Given the description of an element on the screen output the (x, y) to click on. 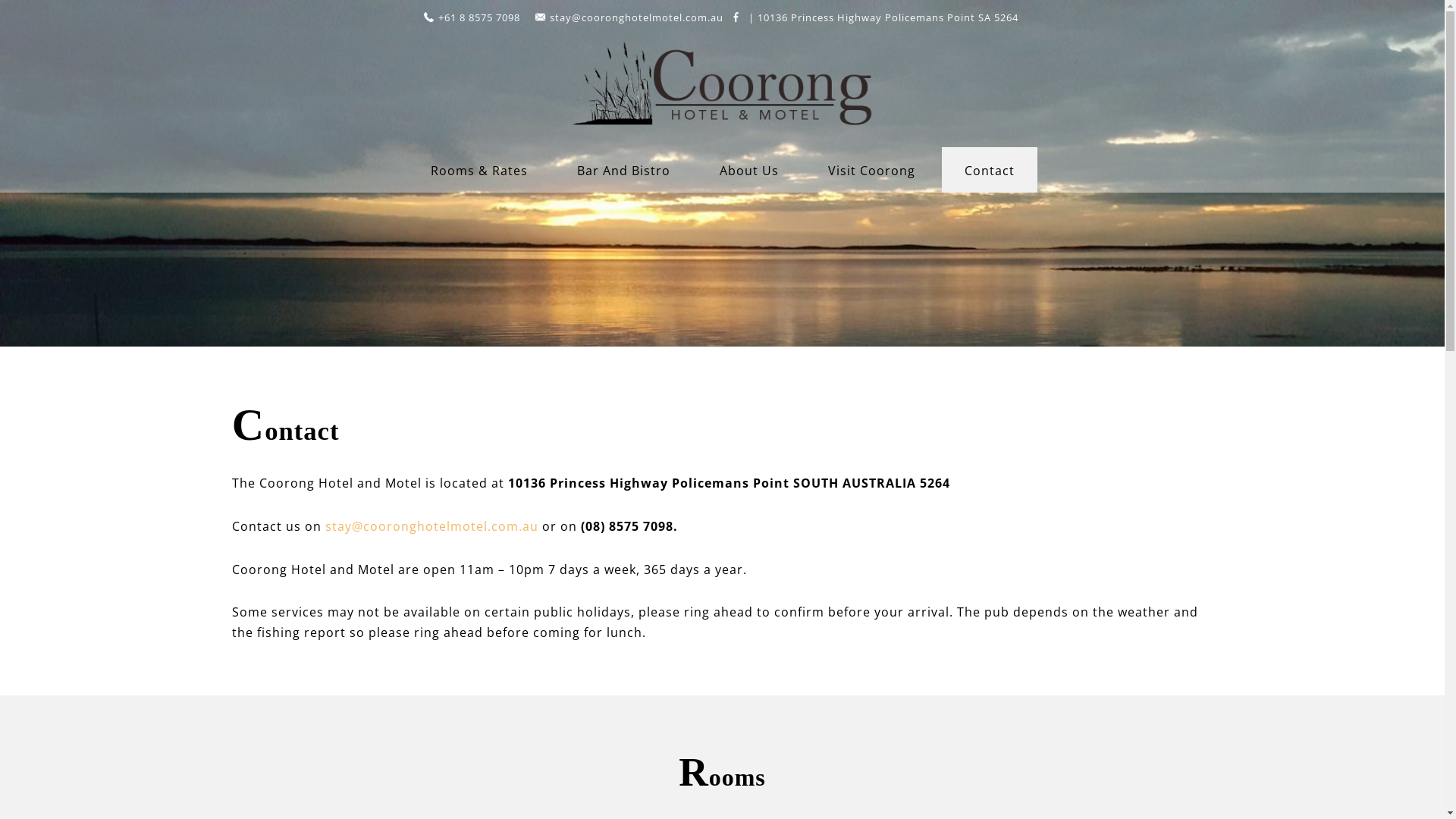
Contact Element type: text (989, 170)
stay@cooronghotelmotel.com.au Element type: text (431, 525)
Bar And Bistro Element type: text (622, 170)
Visit Coorong Element type: text (871, 170)
About Us Element type: text (748, 170)
Contact Element type: hover (735, 17)
stay@cooronghotelmotel.com.au Element type: text (635, 17)
Rooms & Rates Element type: text (478, 170)
